Given the description of an element on the screen output the (x, y) to click on. 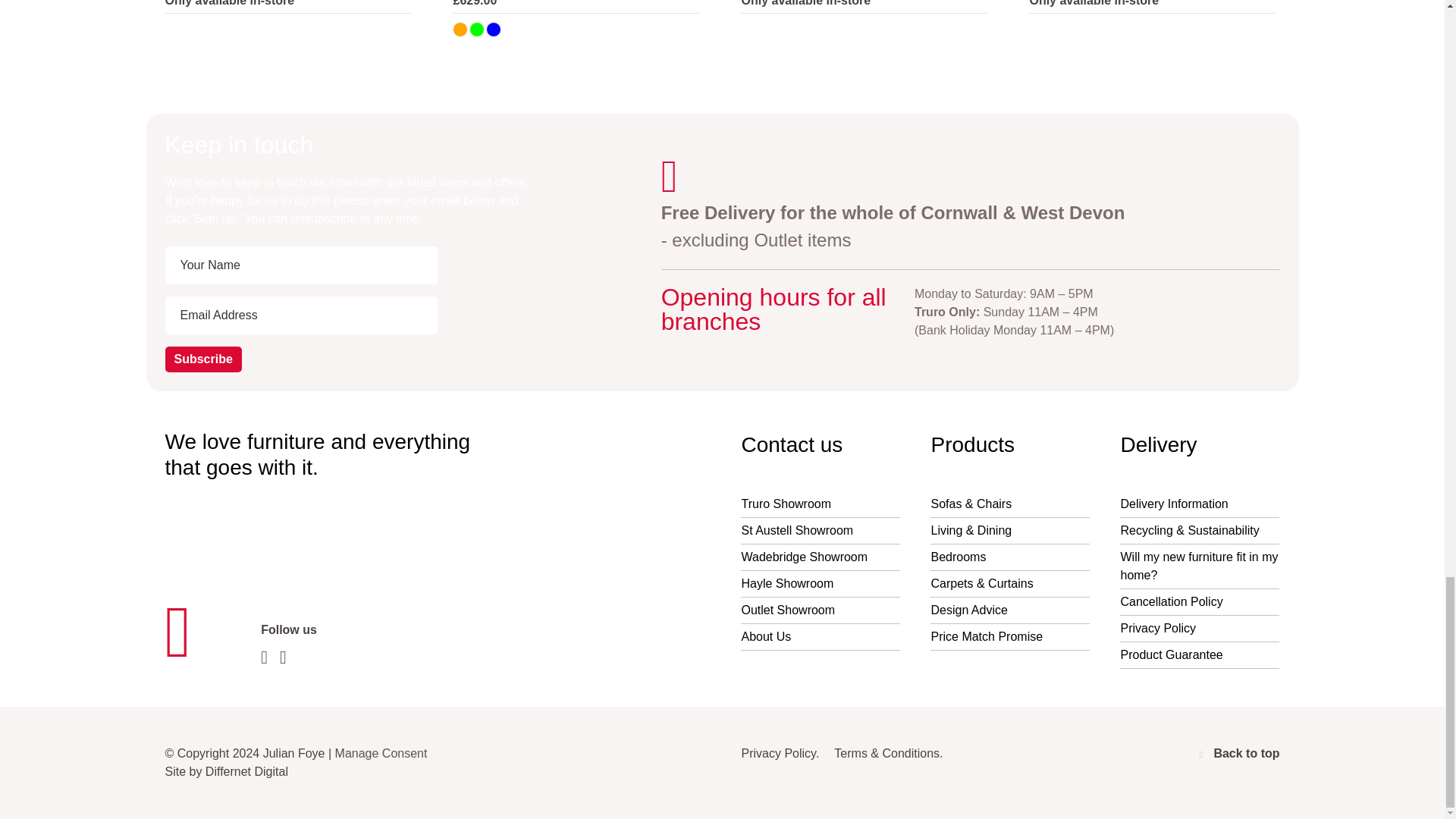
Subscribe (203, 359)
